Given the description of an element on the screen output the (x, y) to click on. 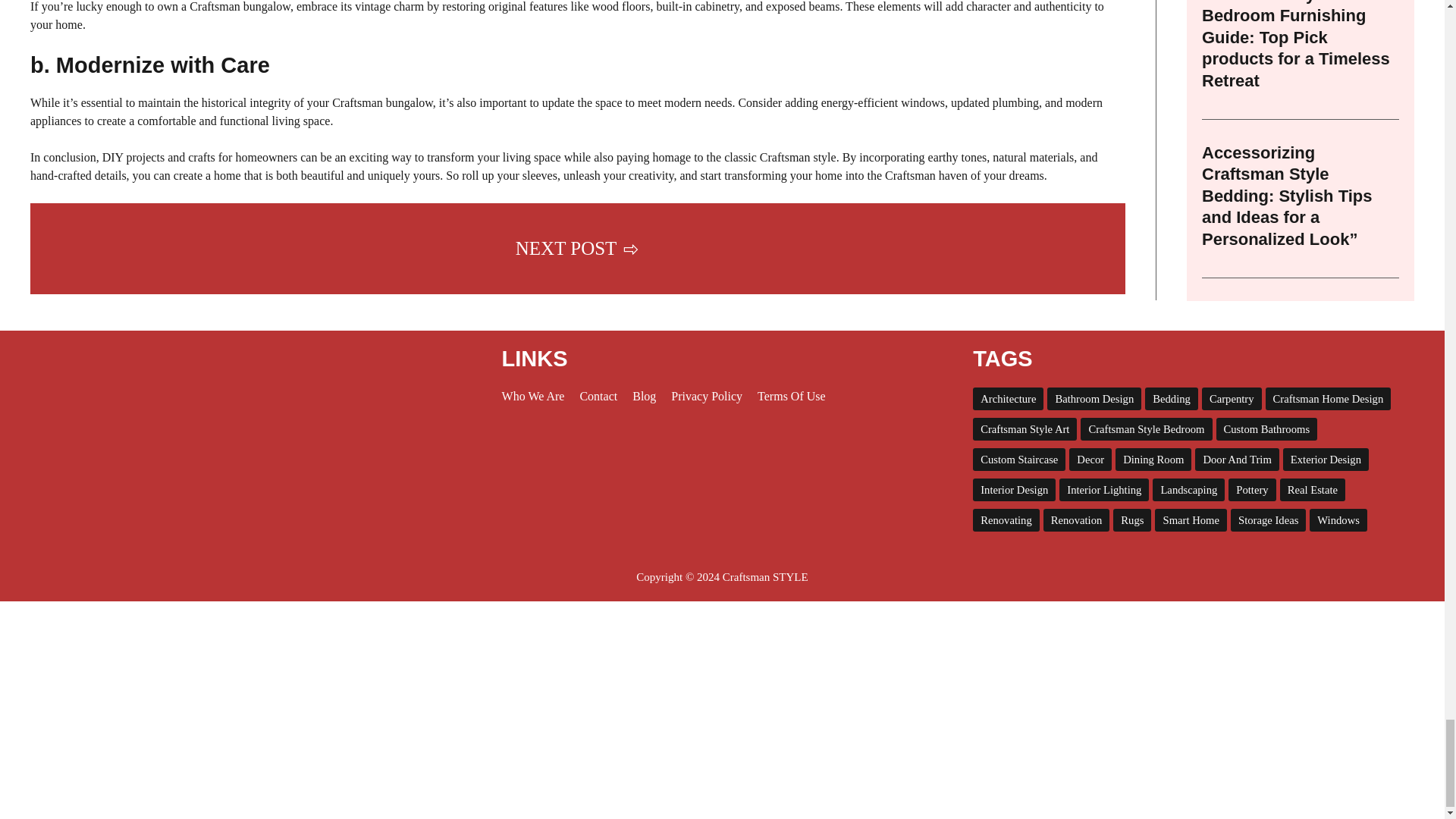
Contact (598, 395)
Craftsman Home Design (1328, 398)
Storage Ideas (1268, 519)
Interior Design (1013, 489)
Door And Trim (1236, 458)
Landscaping (1188, 489)
Terms Of Use (791, 395)
Custom Bathrooms (1266, 428)
Blog (643, 395)
Exterior Design (1325, 458)
Real Estate (1312, 489)
Privacy Policy (706, 395)
Interior Lighting (1103, 489)
Custom Staircase (1018, 458)
Rugs (1132, 519)
